Given the description of an element on the screen output the (x, y) to click on. 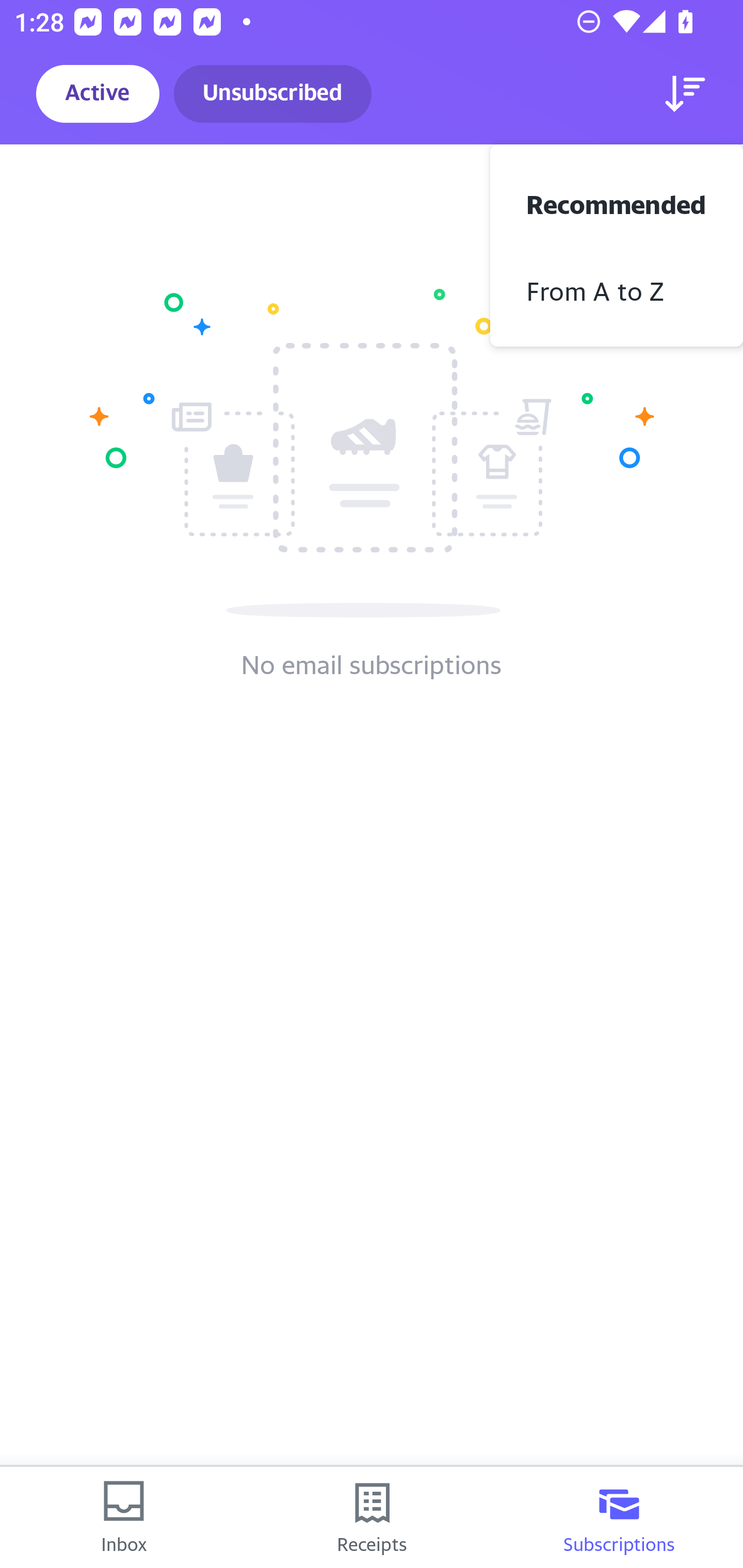
Recommended (616, 202)
From A to Z (616, 289)
